Given the description of an element on the screen output the (x, y) to click on. 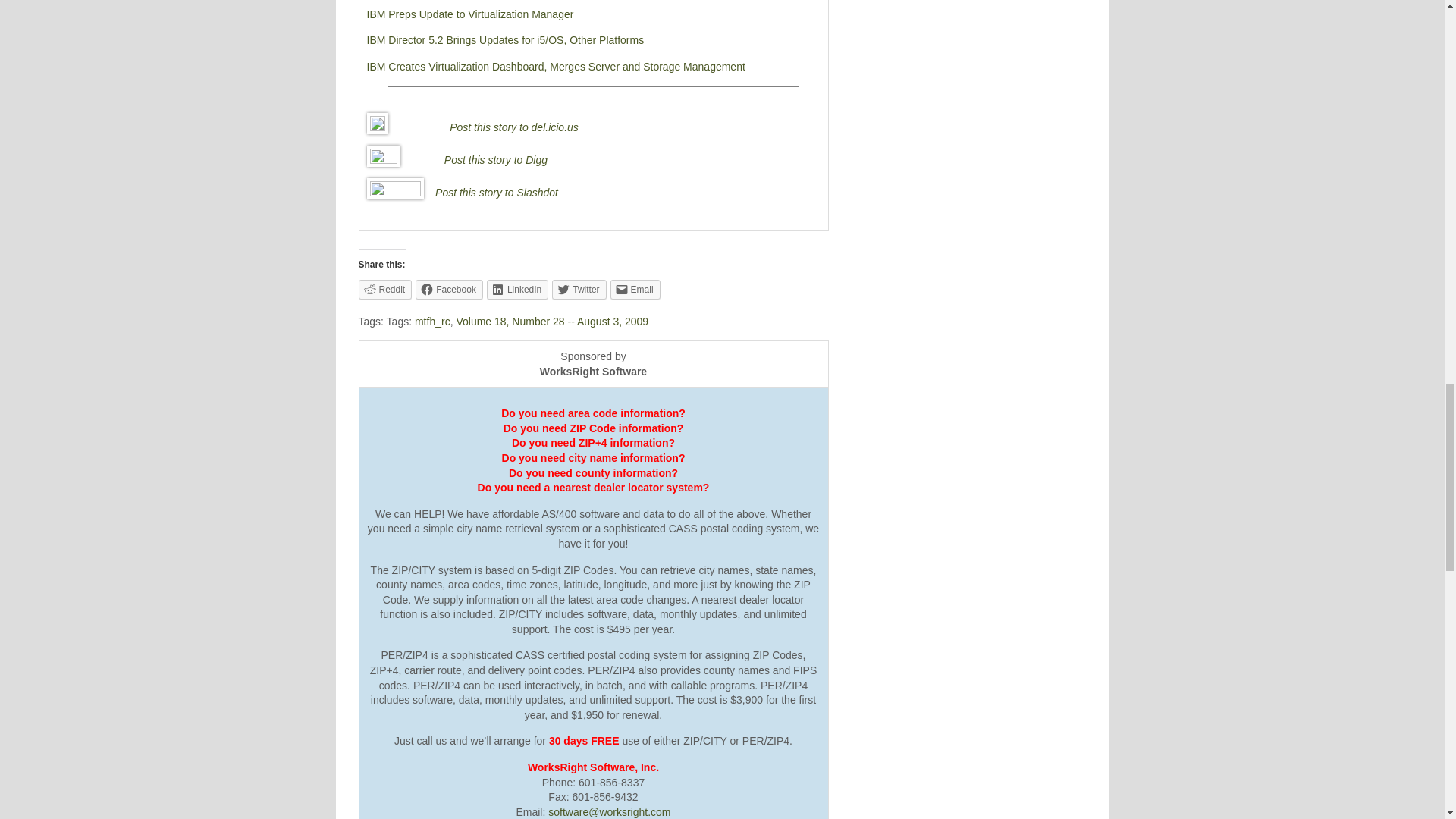
LinkedIn (517, 289)
Click to share on Facebook (448, 289)
Post this story to del.icio.us (513, 127)
Click to email a link to a friend (635, 289)
Reddit (385, 289)
Twitter (578, 289)
IBM Preps Update to Virtualization Manager (469, 14)
Email (635, 289)
Click to share on Reddit (385, 289)
Post this story to Slashdot (496, 192)
